Given the description of an element on the screen output the (x, y) to click on. 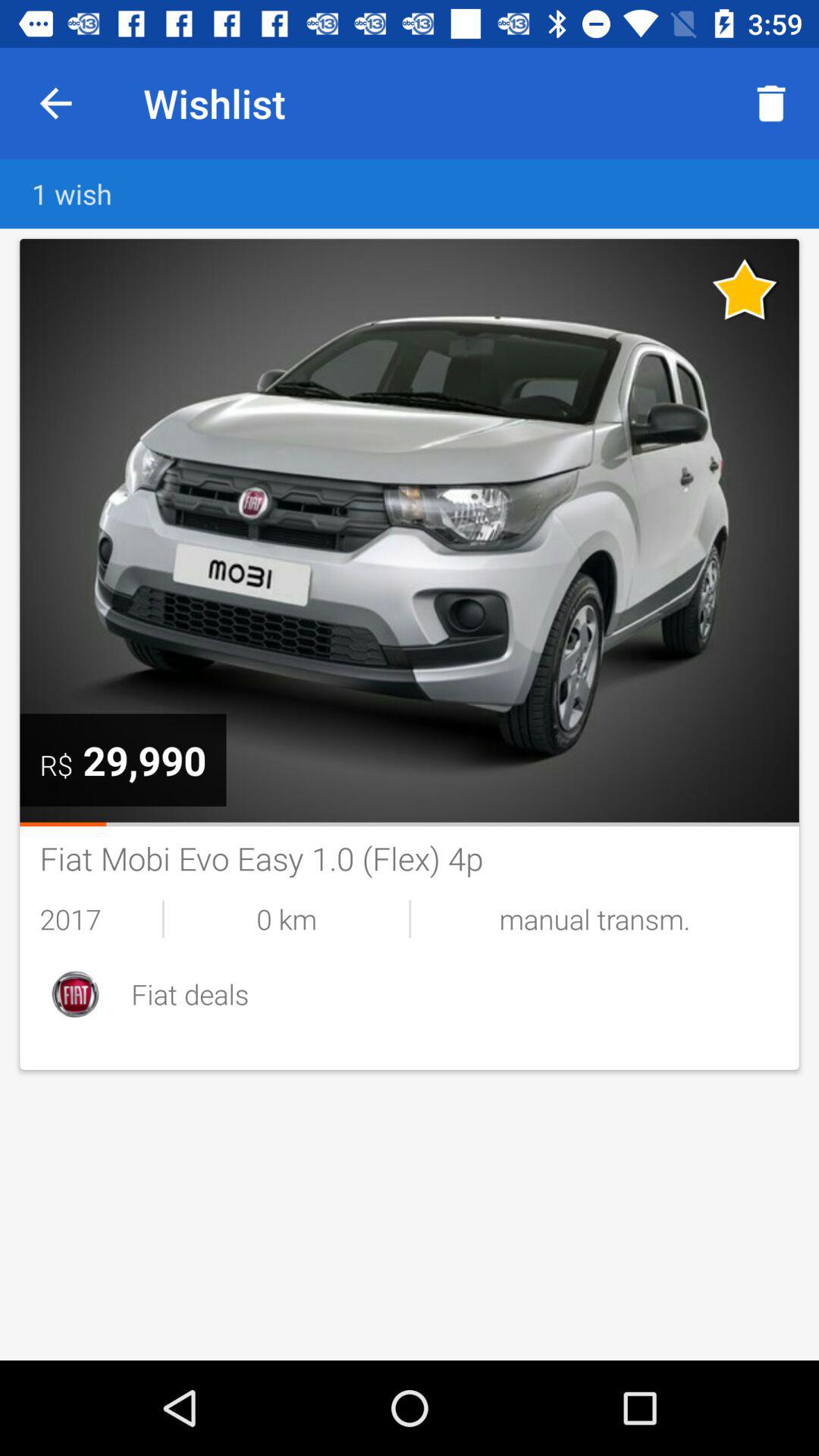
turn off icon at the bottom left corner (75, 994)
